Given the description of an element on the screen output the (x, y) to click on. 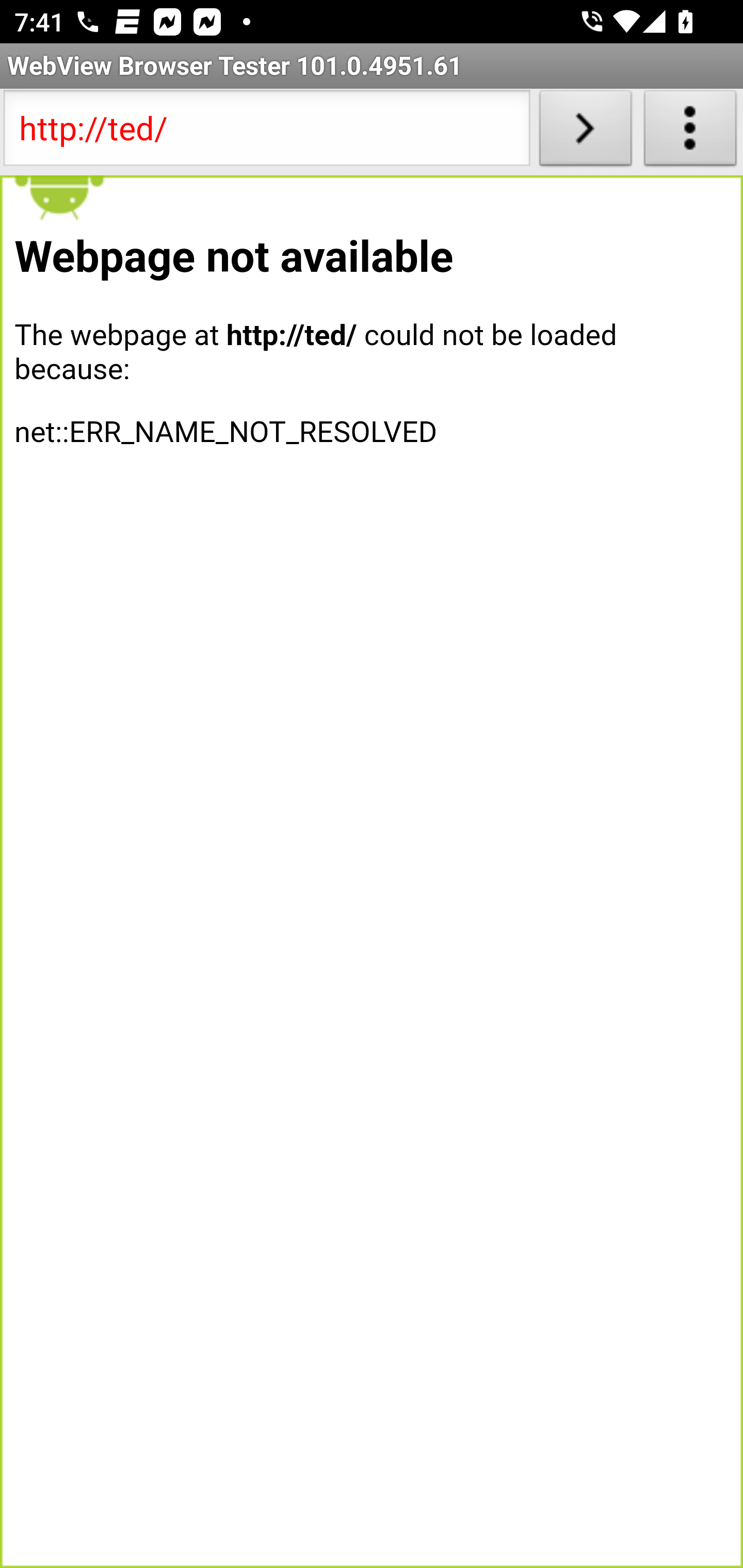
http://ted/ (266, 132)
Load URL (585, 132)
About WebView (690, 132)
